Given the description of an element on the screen output the (x, y) to click on. 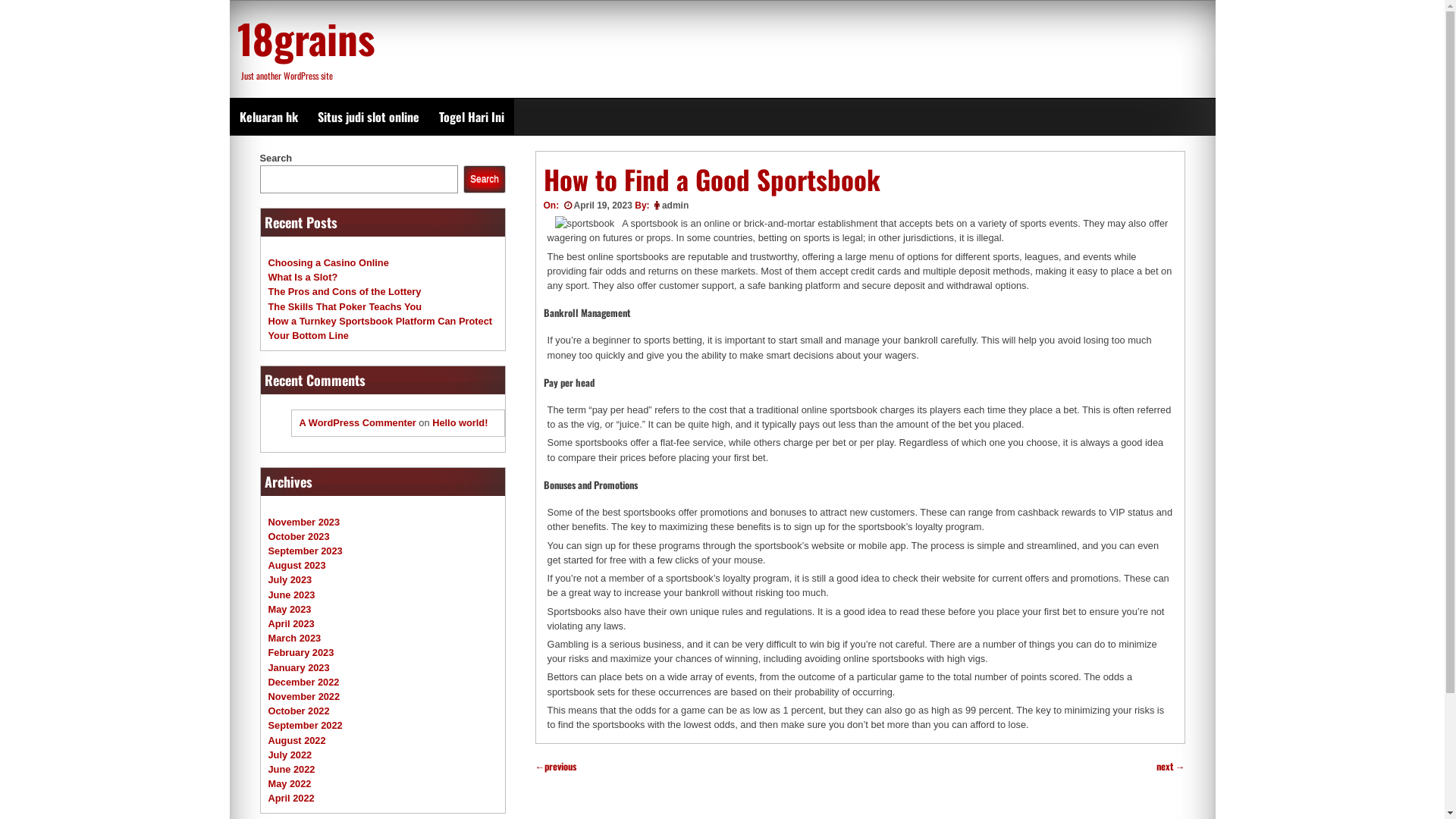
April 2023 Element type: text (291, 623)
What Is a Slot? Element type: text (303, 276)
July 2023 Element type: text (290, 579)
18grains Element type: text (304, 37)
April 2022 Element type: text (291, 797)
The Pros and Cons of the Lottery Element type: text (344, 291)
Keluaran hk Element type: text (268, 116)
June 2023 Element type: text (291, 594)
February 2023 Element type: text (301, 652)
September 2022 Element type: text (305, 725)
Choosing a Casino Online Element type: text (328, 262)
January 2023 Element type: text (298, 667)
November 2023 Element type: text (304, 521)
November 2022 Element type: text (304, 696)
October 2022 Element type: text (298, 710)
Search Element type: text (484, 179)
April 19, 2023 Element type: text (596, 205)
August 2023 Element type: text (297, 565)
Hello world! Element type: text (459, 422)
March 2023 Element type: text (294, 637)
May 2022 Element type: text (289, 783)
June 2022 Element type: text (291, 769)
July 2022 Element type: text (290, 754)
May 2023 Element type: text (289, 609)
August 2022 Element type: text (297, 739)
October 2023 Element type: text (298, 536)
admin Element type: text (675, 205)
Situs judi slot online Element type: text (368, 116)
September 2023 Element type: text (305, 550)
A WordPress Commenter Element type: text (356, 422)
Togel Hari Ini Element type: text (471, 116)
December 2022 Element type: text (303, 681)
The Skills That Poker Teachs You Element type: text (345, 306)
